Given the description of an element on the screen output the (x, y) to click on. 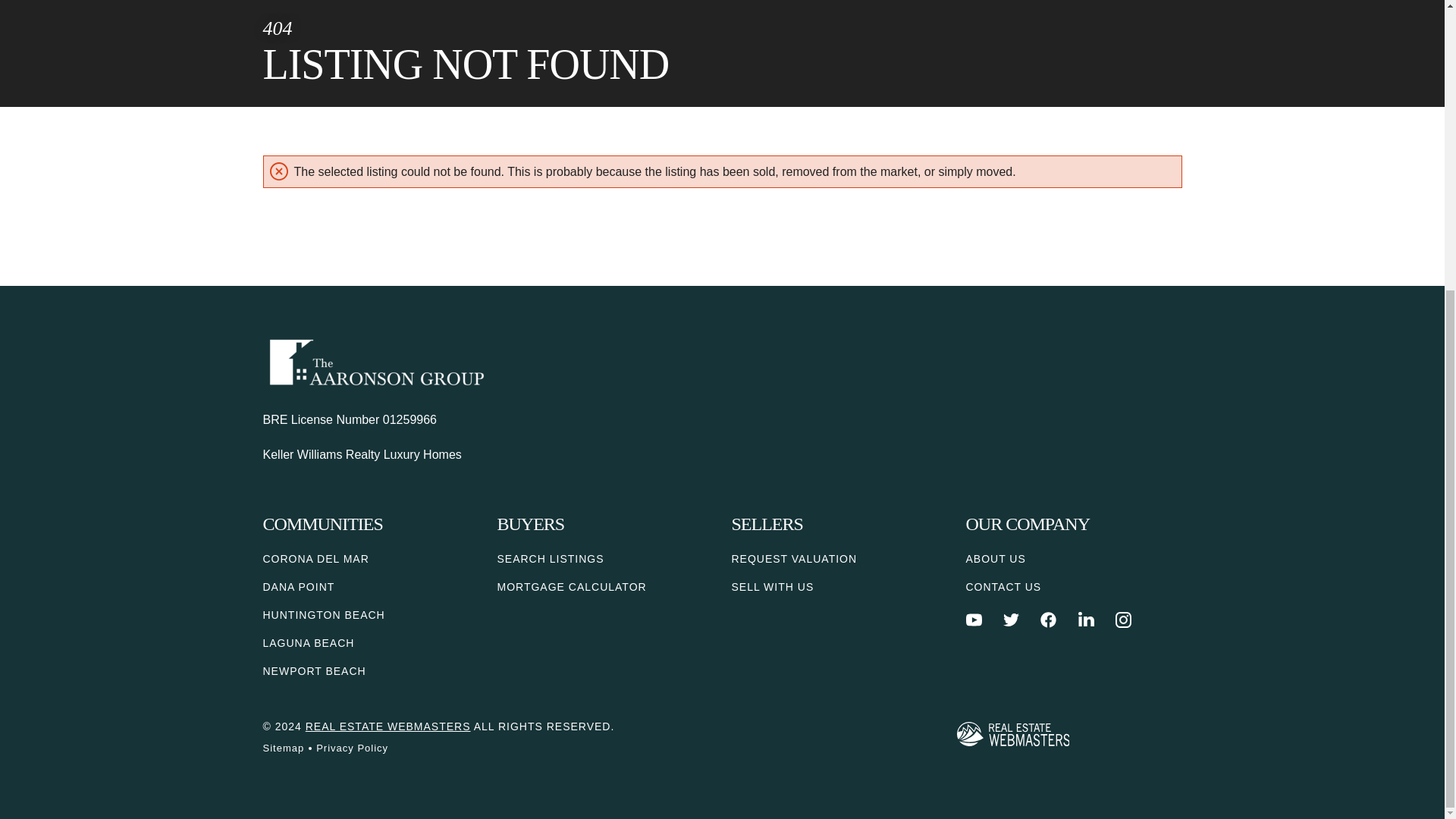
YOUTUBE (973, 619)
FACEBOOK (1049, 619)
TWITTER (1011, 619)
LINKEDIN (1086, 619)
